Given the description of an element on the screen output the (x, y) to click on. 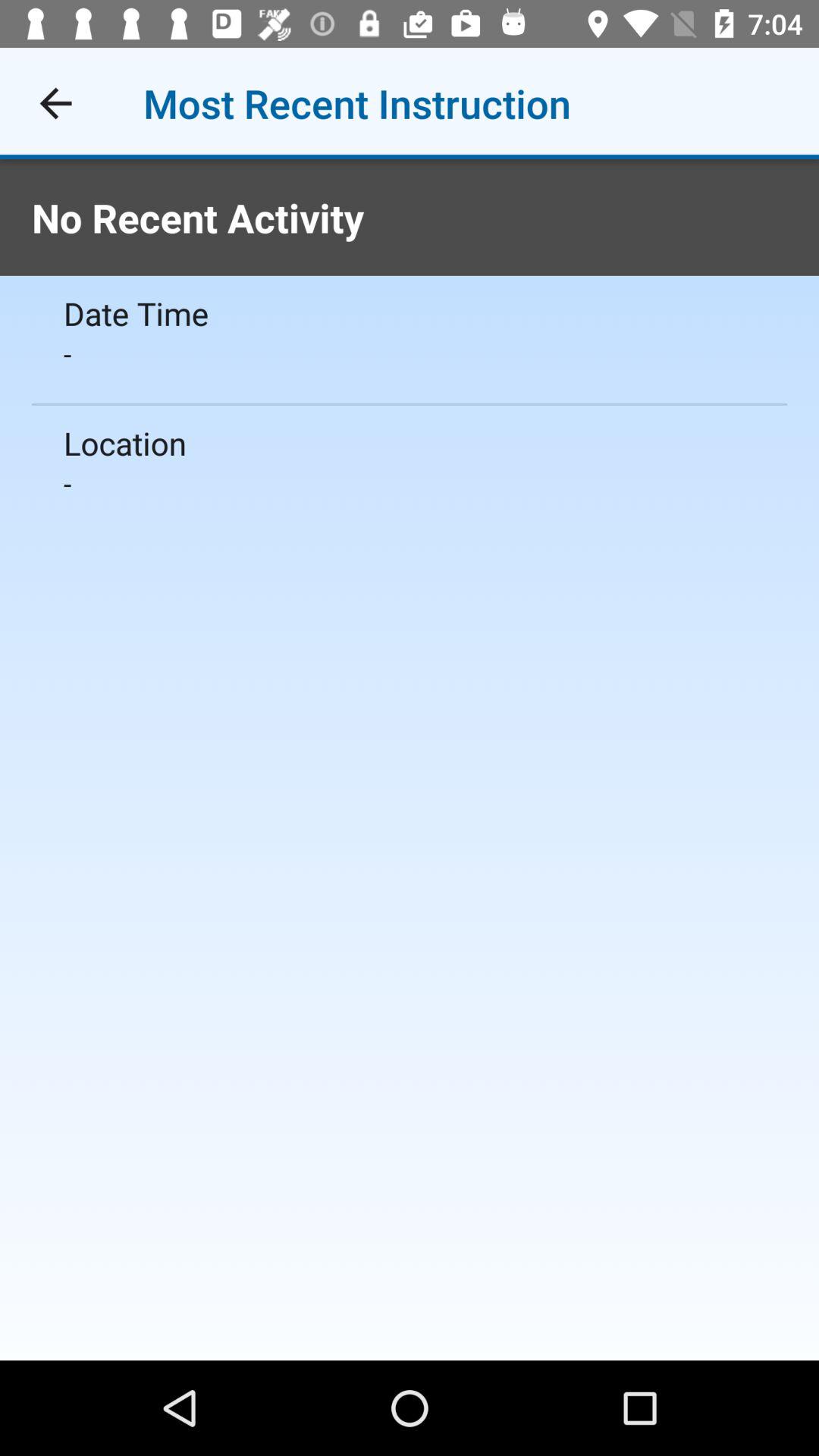
flip to the - icon (409, 353)
